Given the description of an element on the screen output the (x, y) to click on. 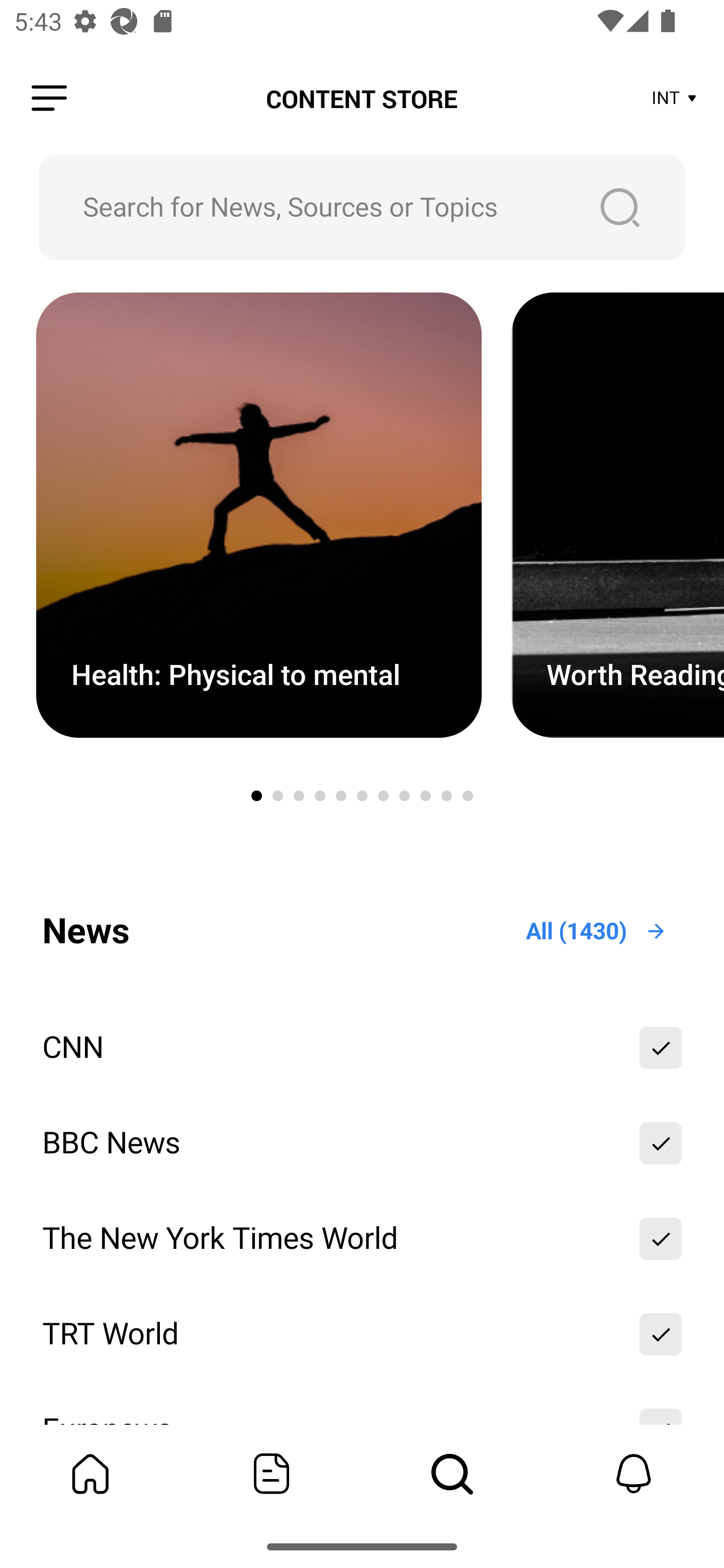
INT Store Area (674, 98)
Leading Icon (49, 98)
Search for News, Sources or Topics Search Button (361, 207)
All (1430) Open All Icon (596, 931)
CNN Add To My Bundle (361, 1047)
Add To My Bundle (660, 1047)
BBC News Add To My Bundle (361, 1142)
Add To My Bundle (660, 1142)
The New York Times World Add To My Bundle (361, 1238)
Add To My Bundle (660, 1238)
TRT World Add To My Bundle (361, 1334)
Add To My Bundle (660, 1334)
My Bundle (90, 1473)
Featured (271, 1473)
Notifications (633, 1473)
